Given the description of an element on the screen output the (x, y) to click on. 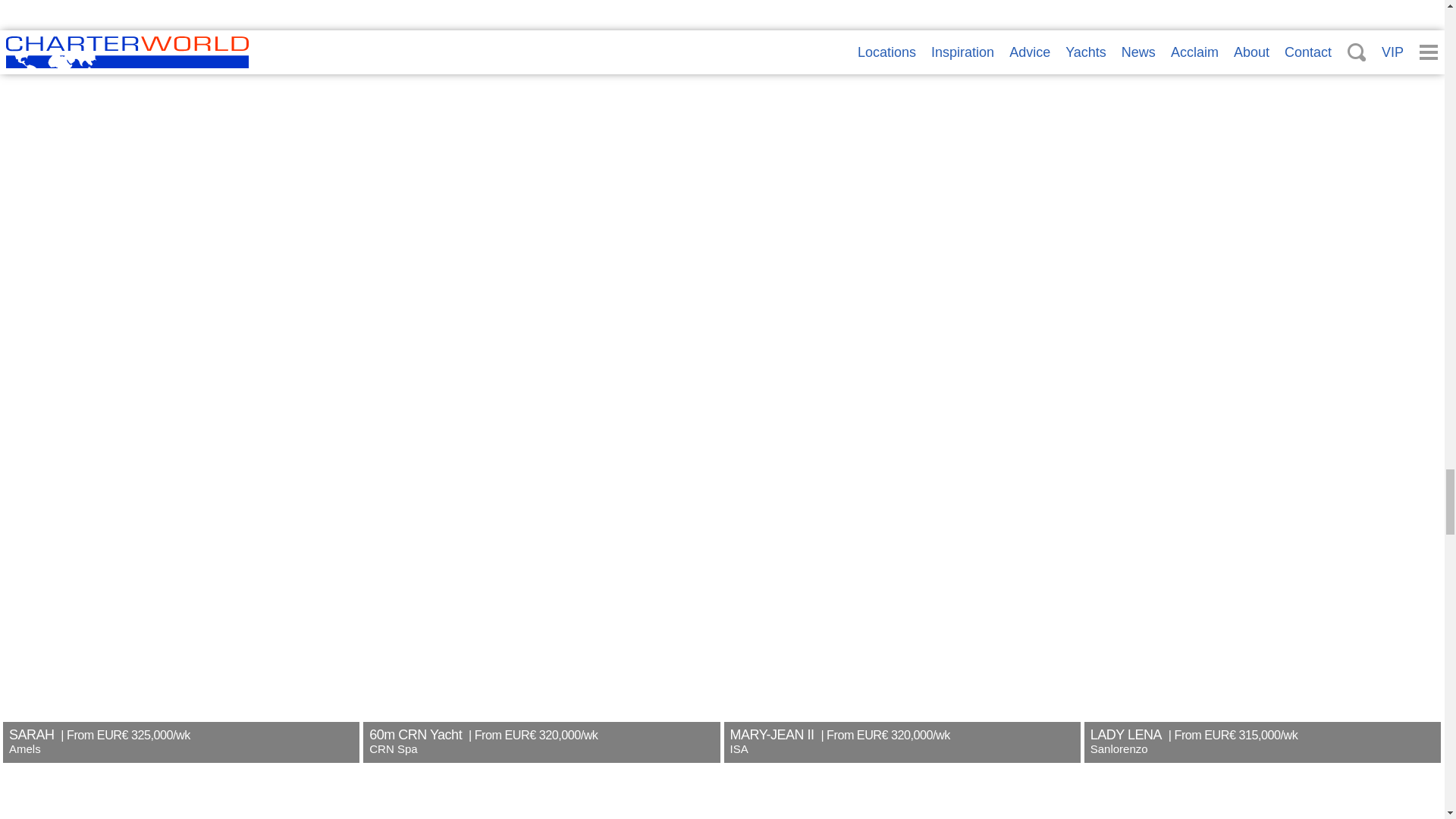
LADY LENA (1262, 98)
60m CRN Yacht (541, 98)
SARAH (180, 98)
MARY-JEAN II (901, 98)
